Given the description of an element on the screen output the (x, y) to click on. 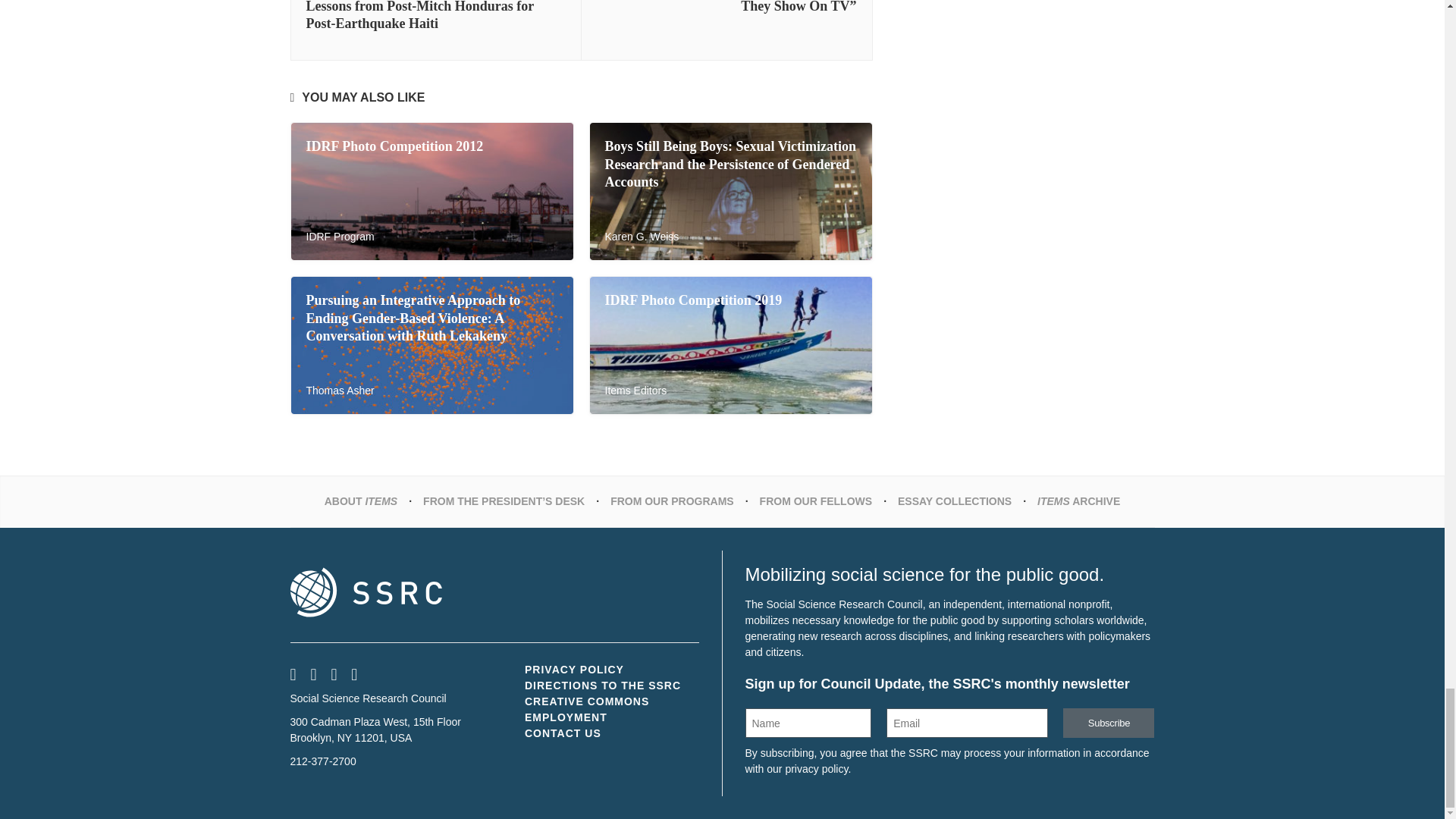
Subscribe (1108, 722)
